Given the description of an element on the screen output the (x, y) to click on. 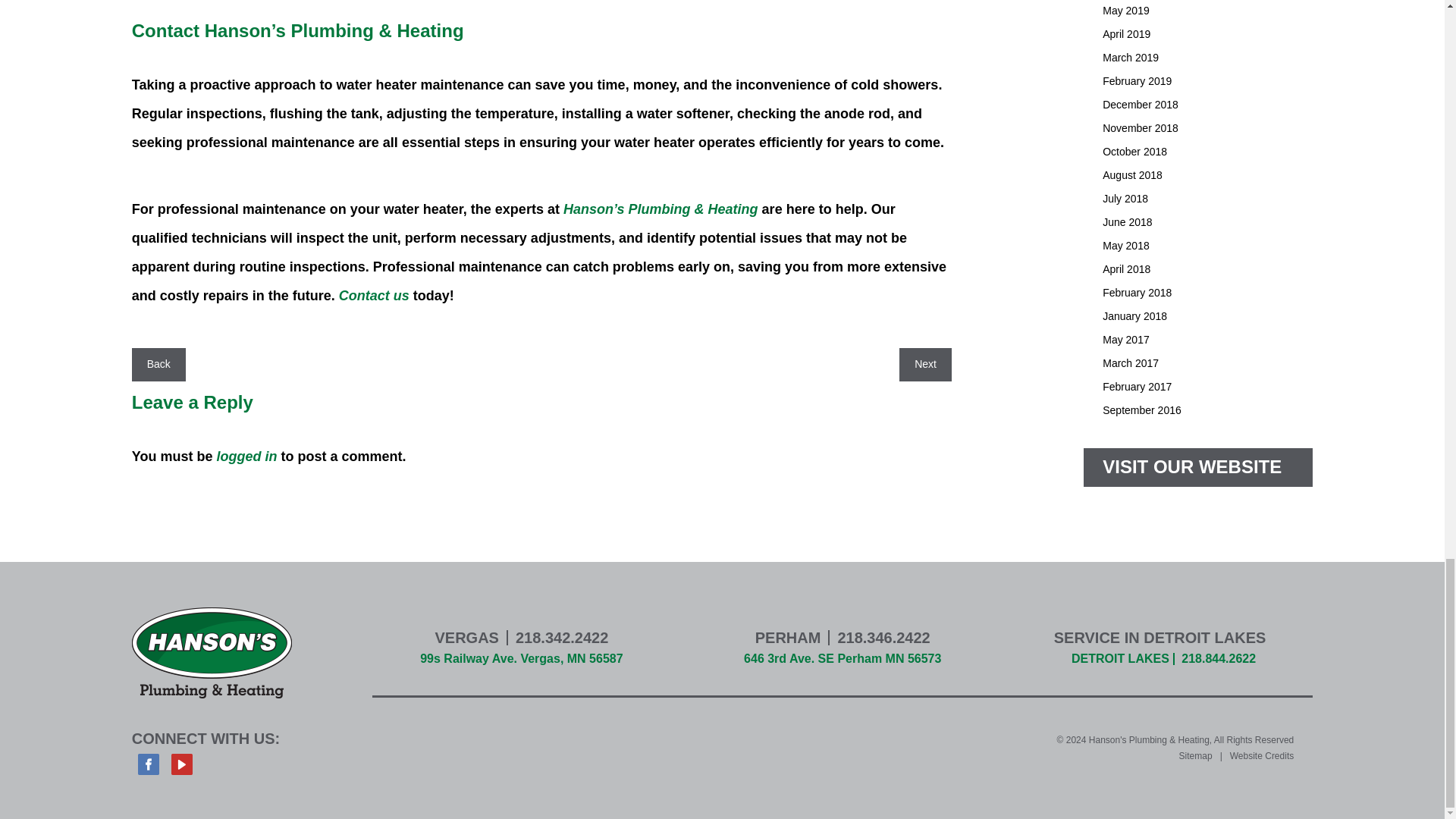
Next (925, 363)
logged in (245, 456)
Contact us (374, 295)
Back (158, 363)
